Given the description of an element on the screen output the (x, y) to click on. 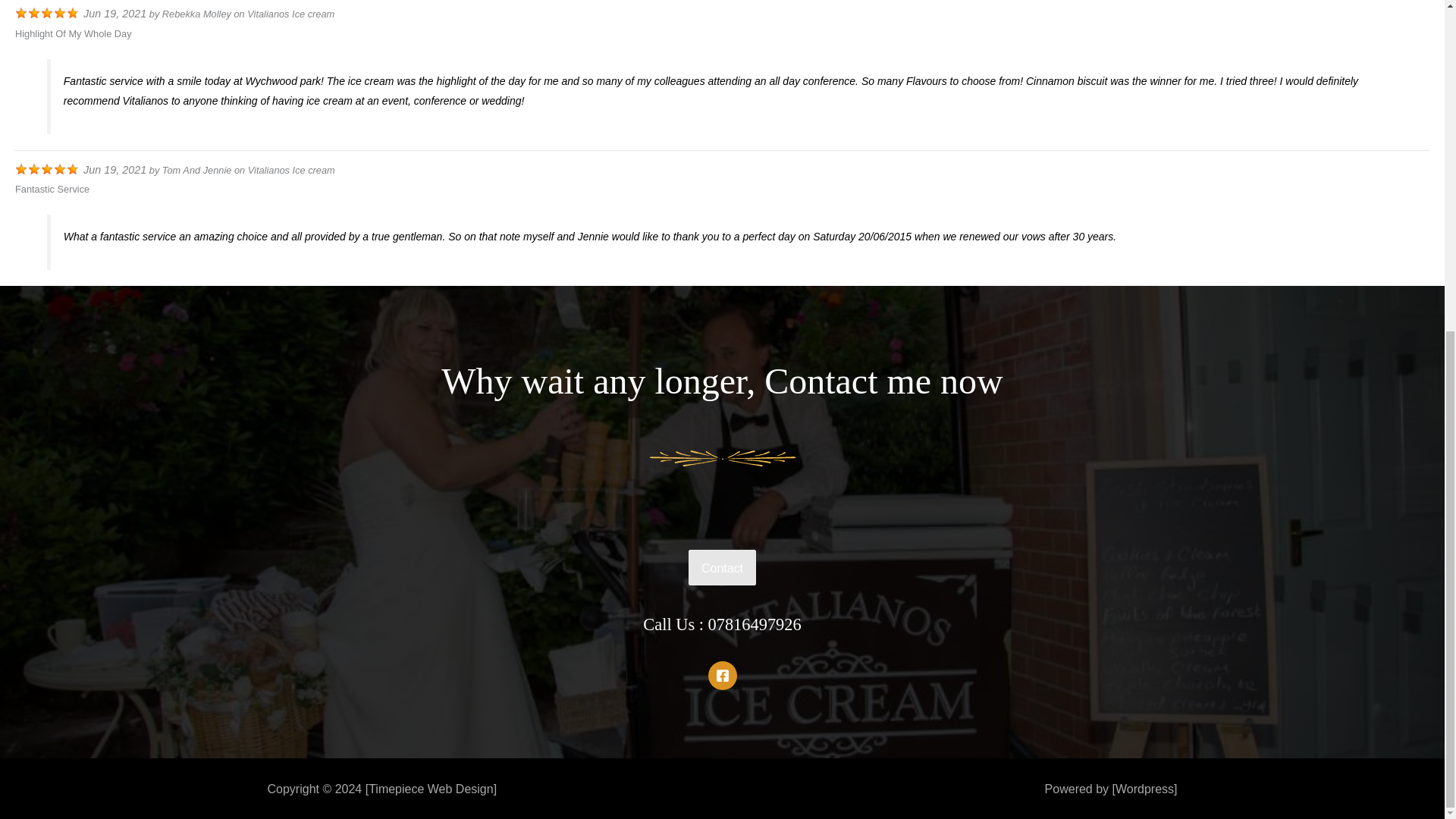
Contact (721, 567)
